Given the description of an element on the screen output the (x, y) to click on. 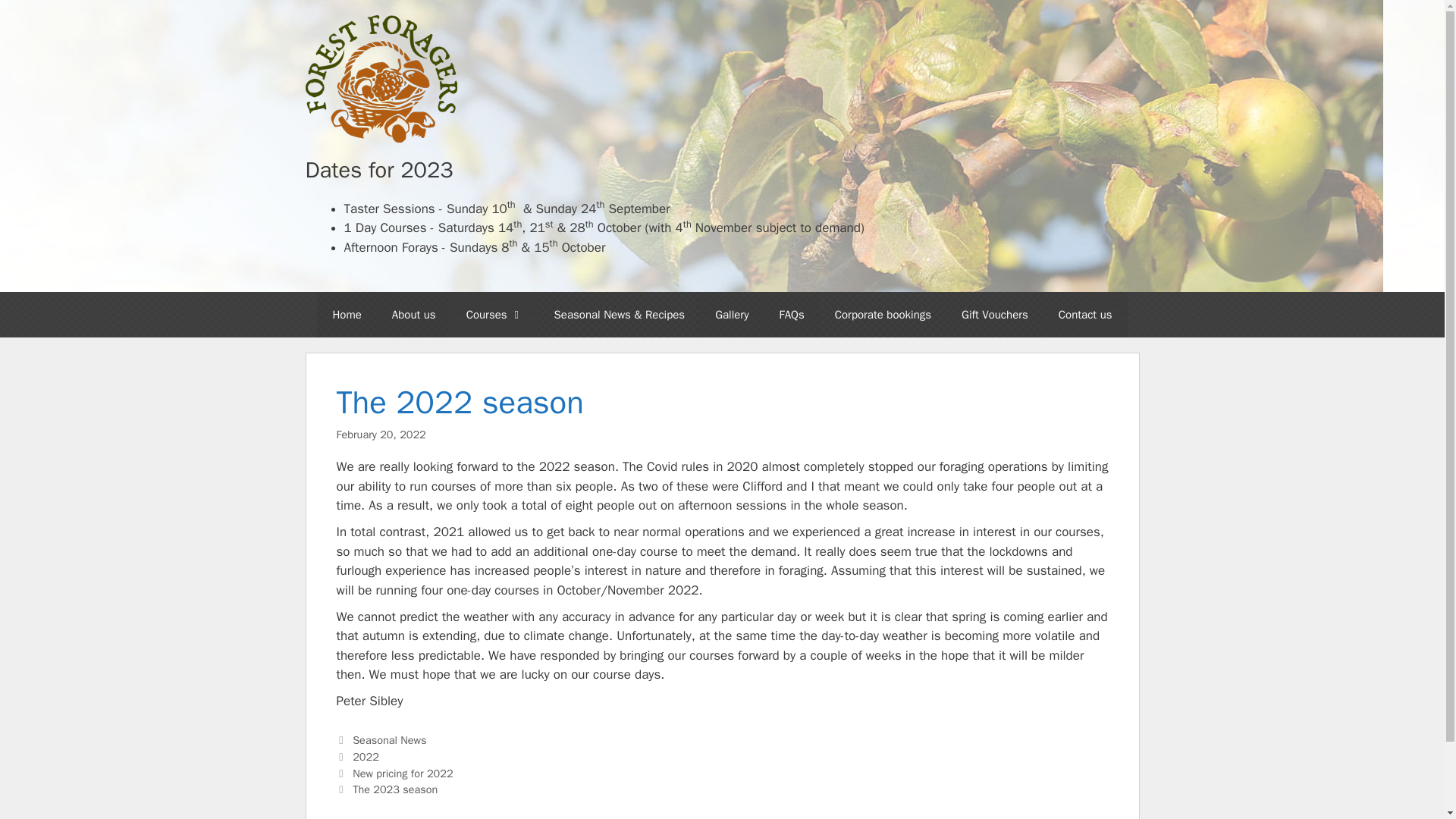
New pricing for 2022 (402, 773)
The 2023 season (395, 789)
Gift Vouchers (994, 314)
Corporate bookings (882, 314)
Contact us (1084, 314)
Forest Foragers (380, 77)
About us (414, 314)
Home (346, 314)
Next (387, 789)
2022 (365, 756)
Previous (394, 773)
Courses (494, 314)
FAQs (790, 314)
Forest Foragers (380, 78)
Gallery (731, 314)
